Given the description of an element on the screen output the (x, y) to click on. 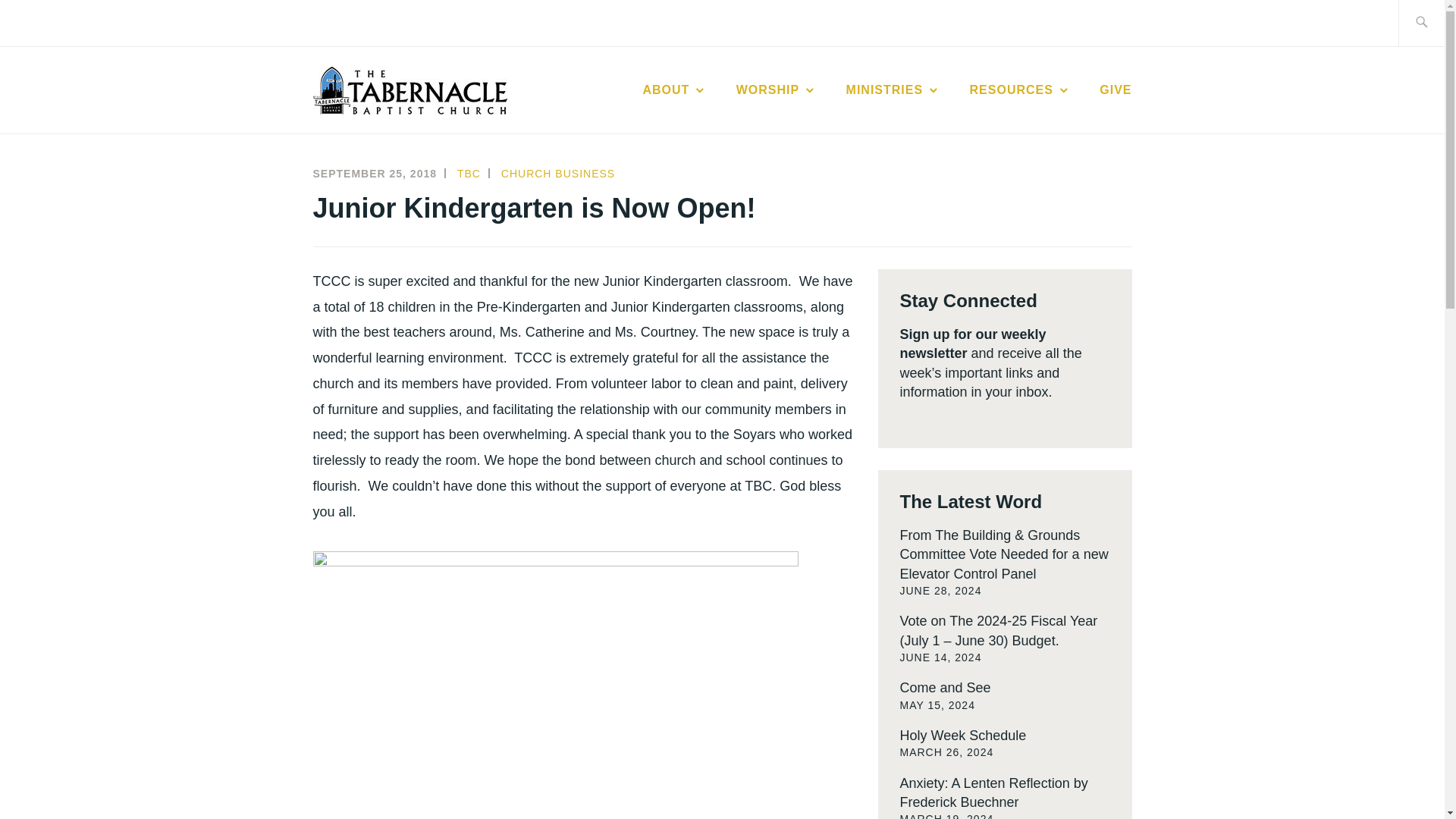
CHURCH BUSINESS (557, 173)
RESOURCES (1019, 89)
WORSHIP (776, 89)
SEPTEMBER 25, 2018 (374, 173)
GIVE (1115, 89)
MINISTRIES (892, 89)
ABOUT (674, 89)
TABERNACLE BAPTIST CHURCH (810, 114)
Search (47, 22)
TBC (468, 173)
